Given the description of an element on the screen output the (x, y) to click on. 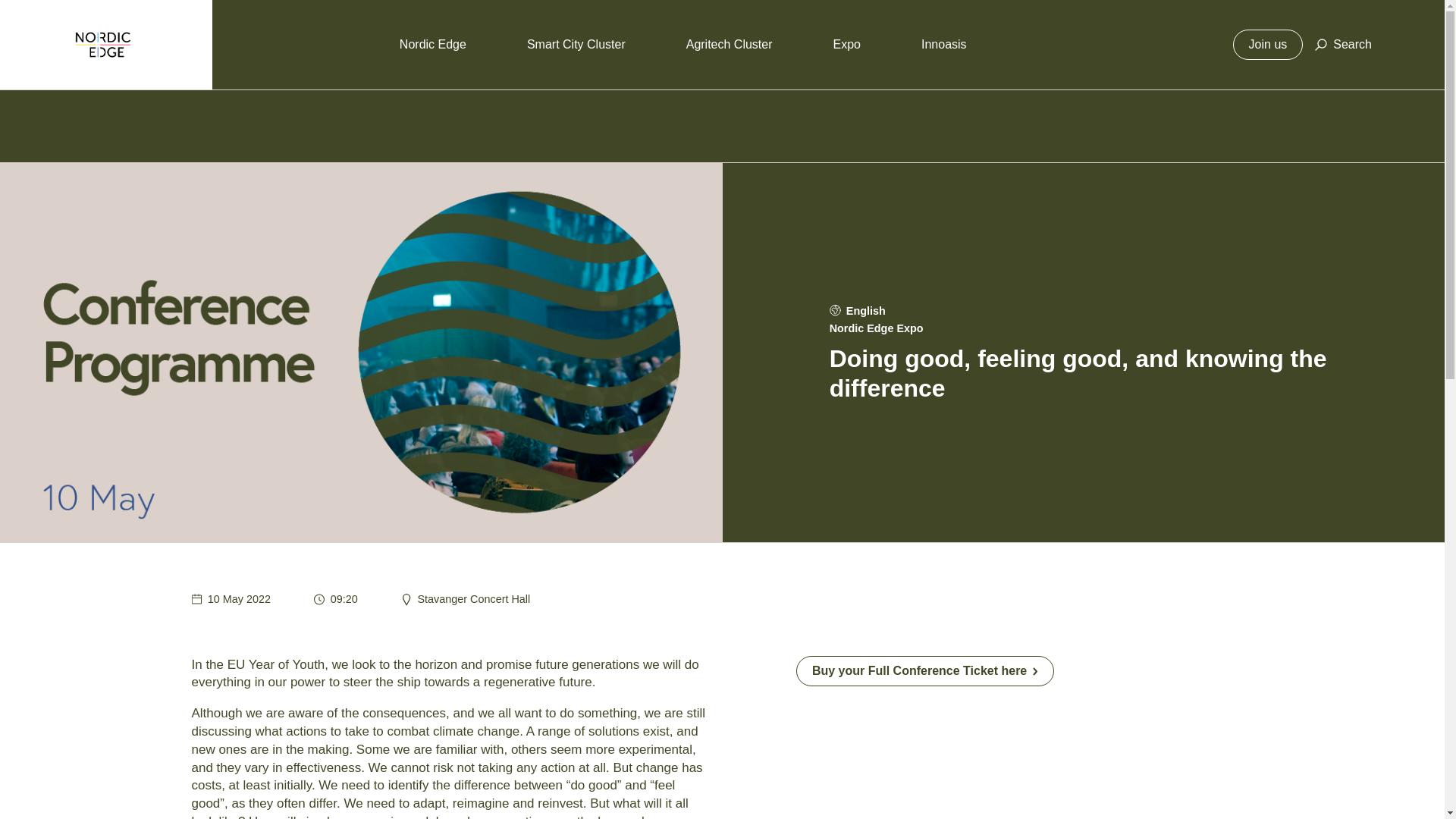
Nordic Edge (431, 43)
Language (835, 310)
Join us (1268, 44)
Innoasis (943, 43)
Agritech Cluster (729, 43)
Smart City Cluster (576, 43)
Expo (846, 43)
Search (1342, 44)
